Given the description of an element on the screen output the (x, y) to click on. 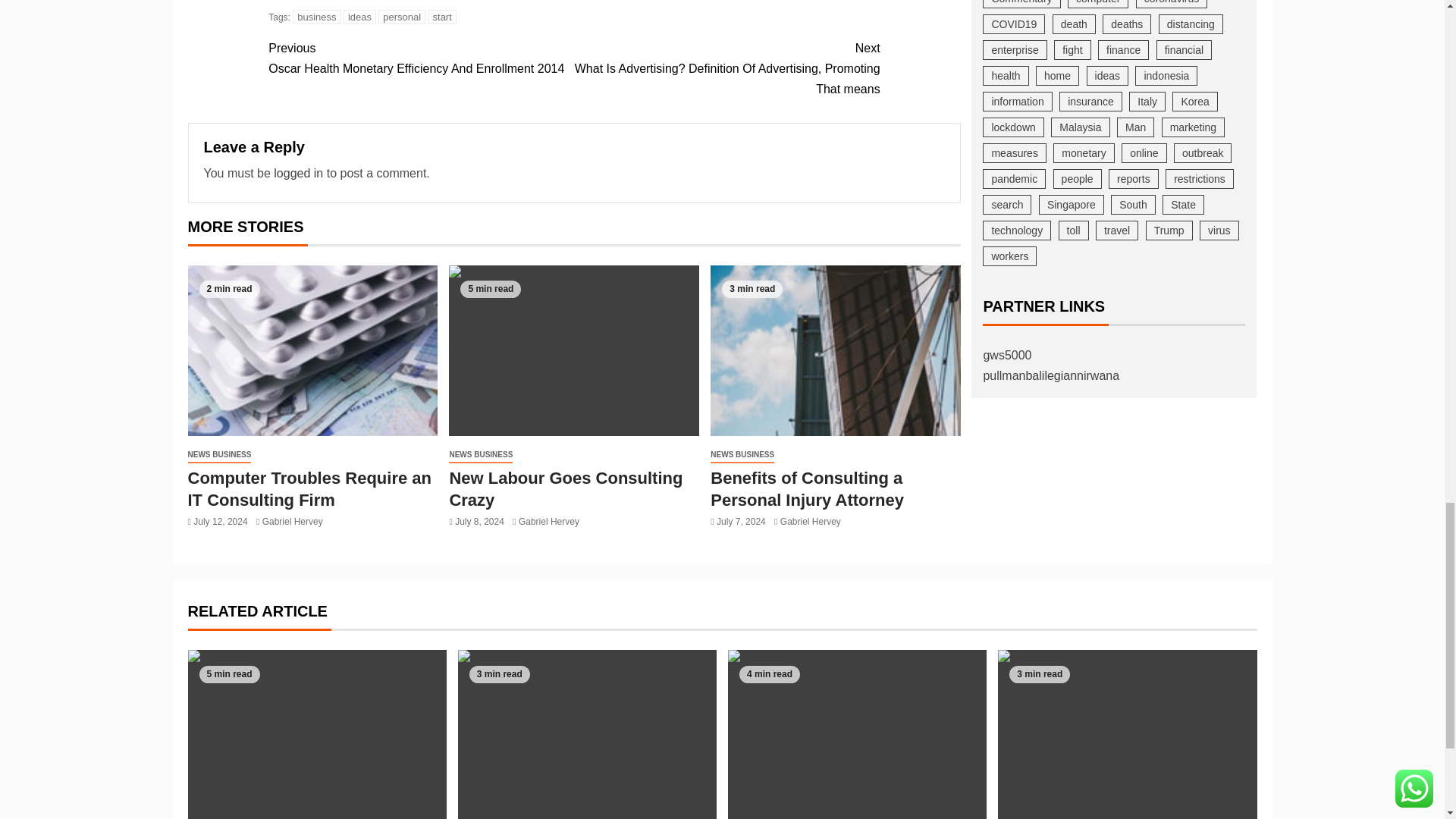
Computer Troubles Require an IT Consulting Firm (312, 350)
Benefits of Consulting a Personal Injury Attorney (835, 350)
New Labour Goes Consulting Crazy (573, 350)
ideas (359, 16)
personal (401, 16)
start (442, 16)
business (316, 16)
